Given the description of an element on the screen output the (x, y) to click on. 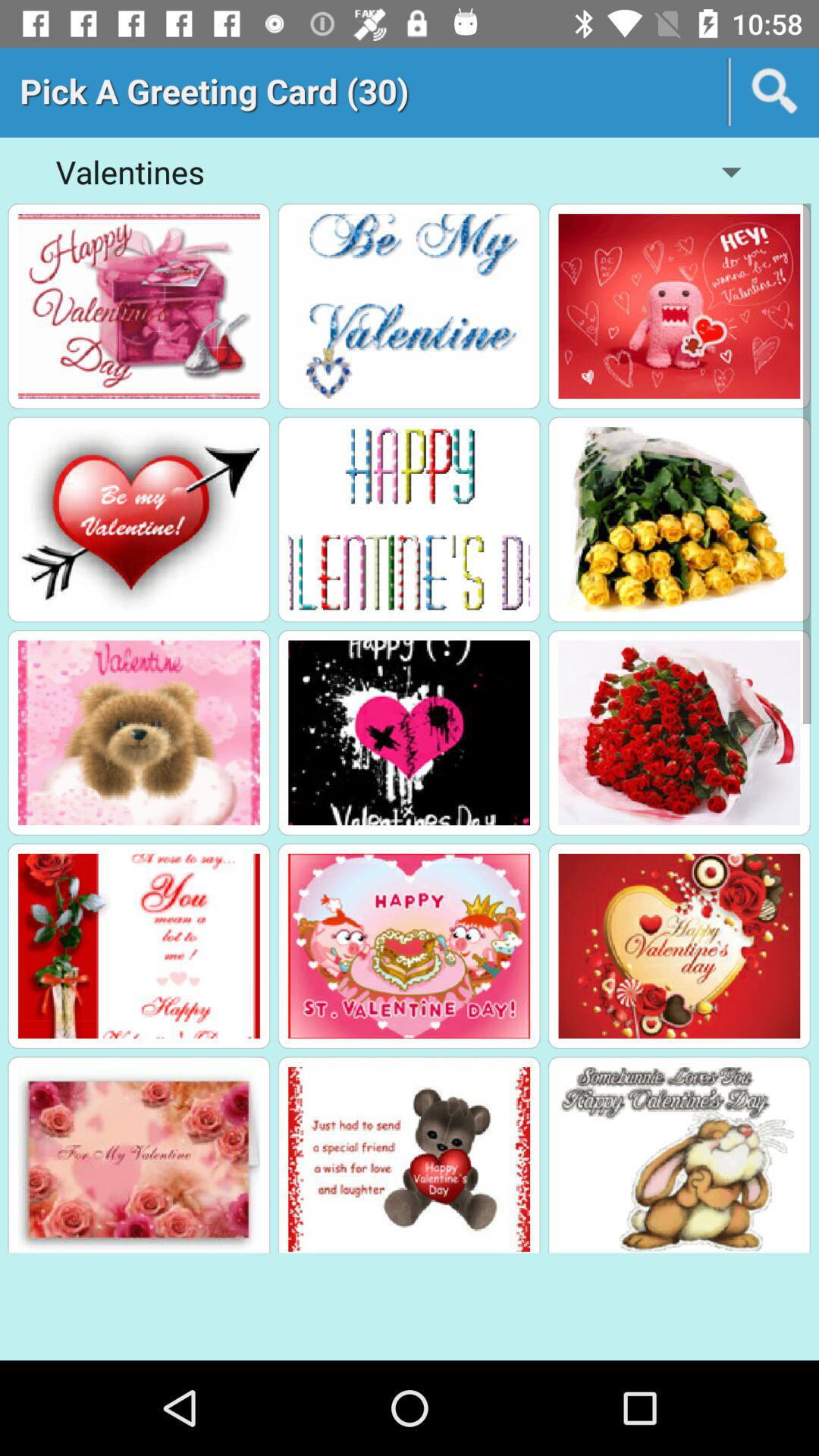
card preview (409, 1158)
